Given the description of an element on the screen output the (x, y) to click on. 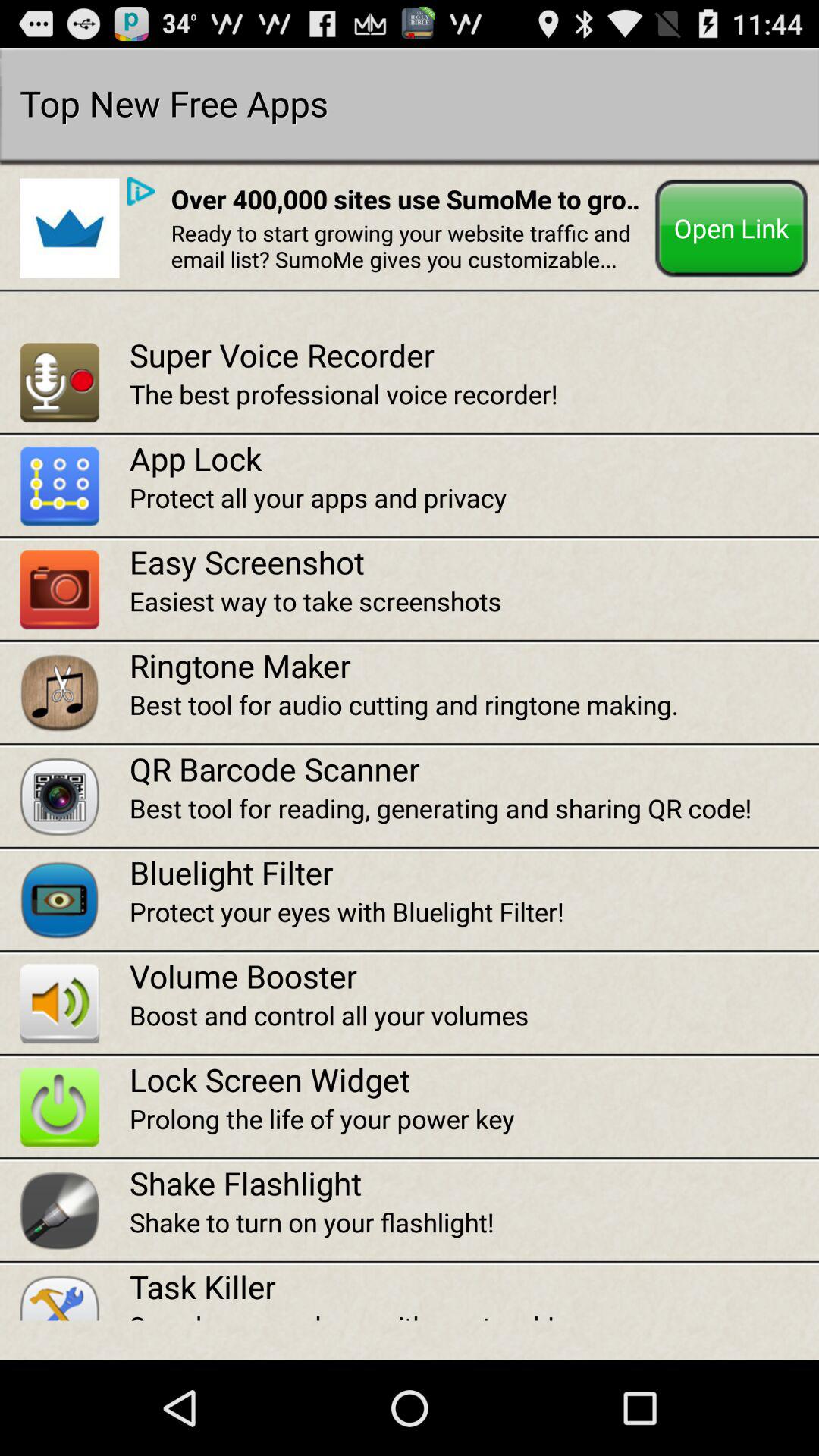
swipe to the shake to turn item (474, 1221)
